Given the description of an element on the screen output the (x, y) to click on. 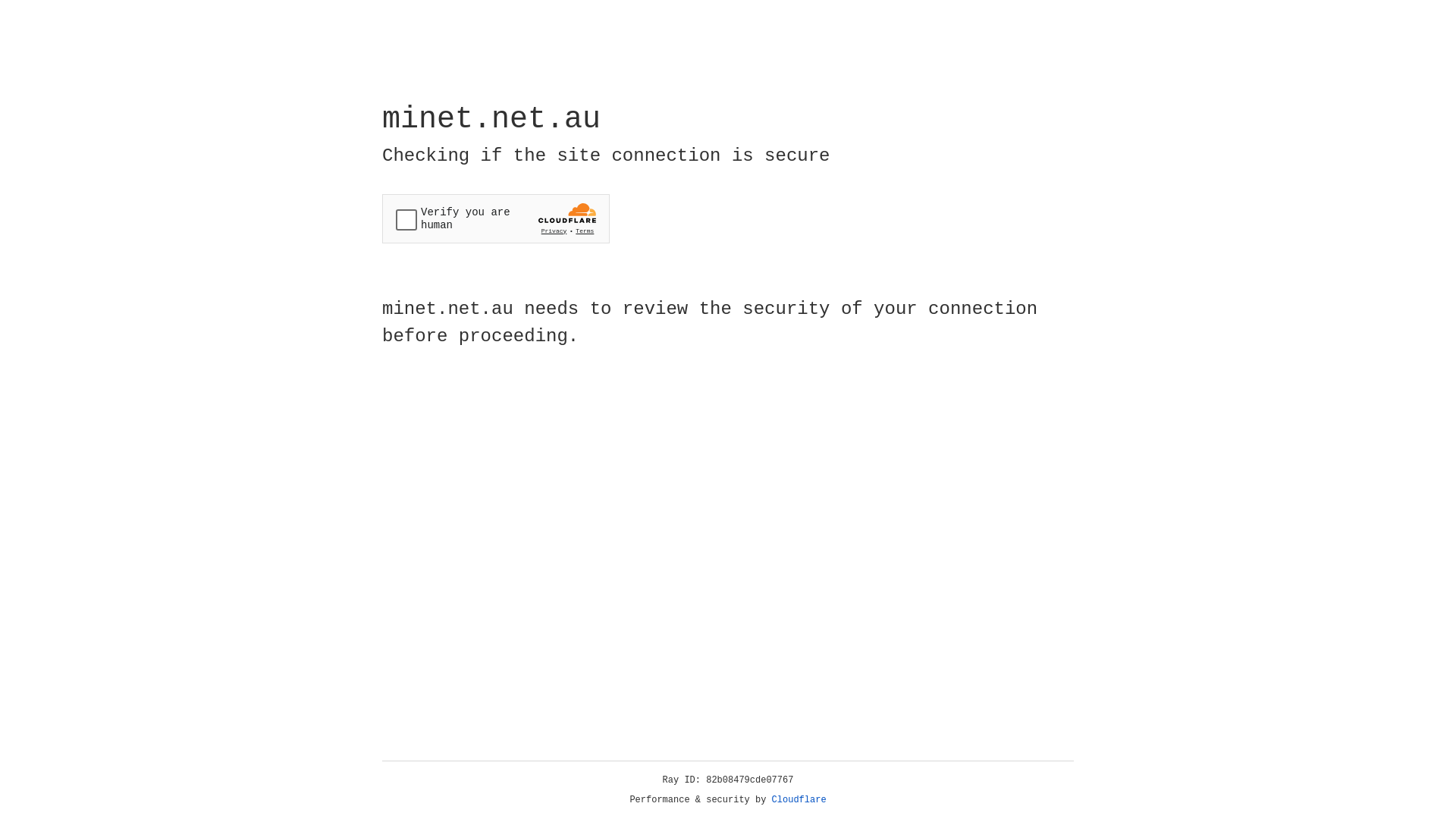
Cloudflare Element type: text (798, 799)
Widget containing a Cloudflare security challenge Element type: hover (495, 218)
